Given the description of an element on the screen output the (x, y) to click on. 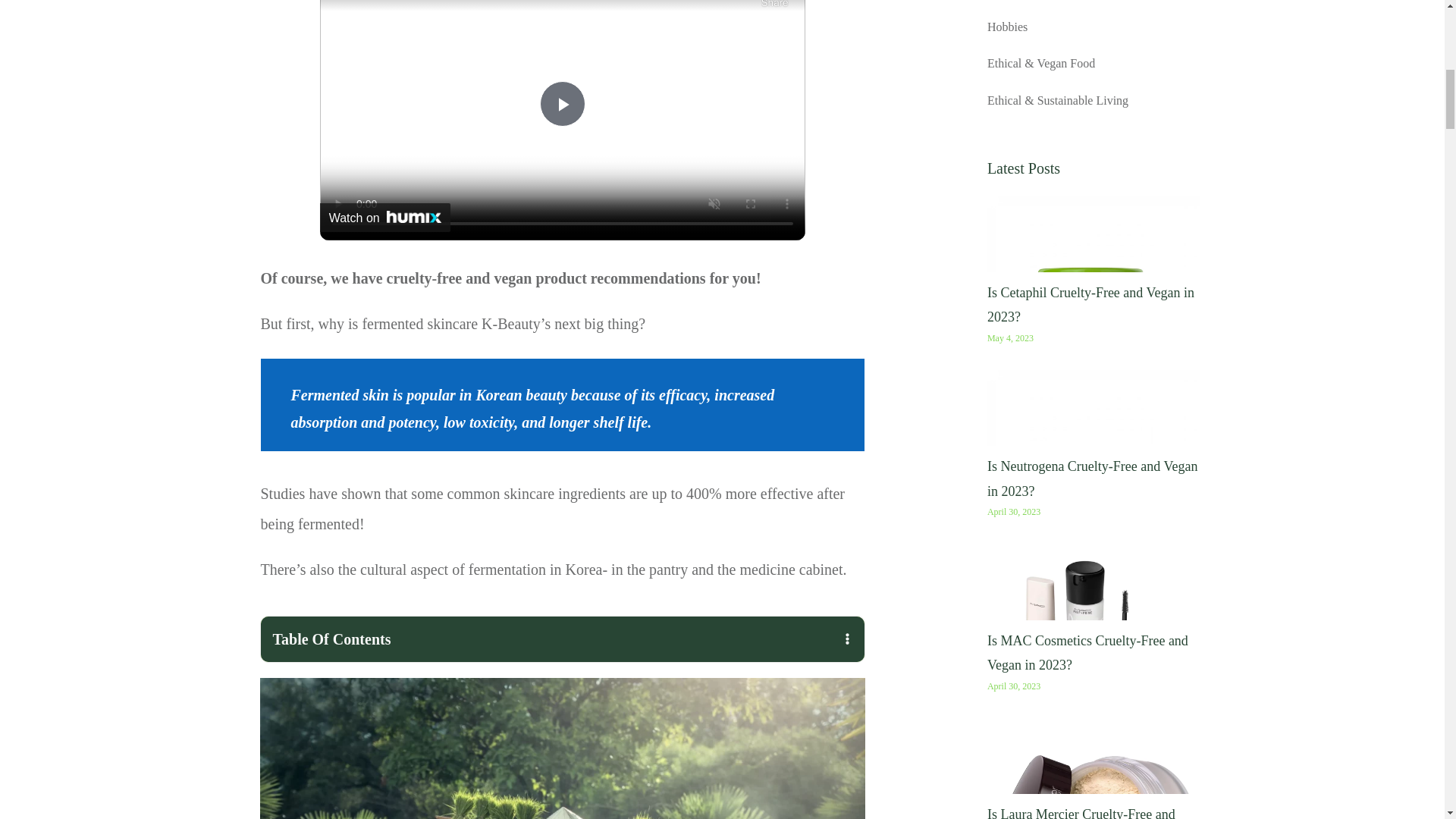
fermented-skincare-korean-beauty (561, 748)
Play Video (562, 103)
Share (775, 5)
Table Of Contents (561, 638)
Is Cetaphil Cruelty-Free and Vegan in 2023? (1090, 304)
Play Video (562, 103)
Watch on (384, 217)
share (775, 5)
May 4, 2023 (1010, 337)
